Given the description of an element on the screen output the (x, y) to click on. 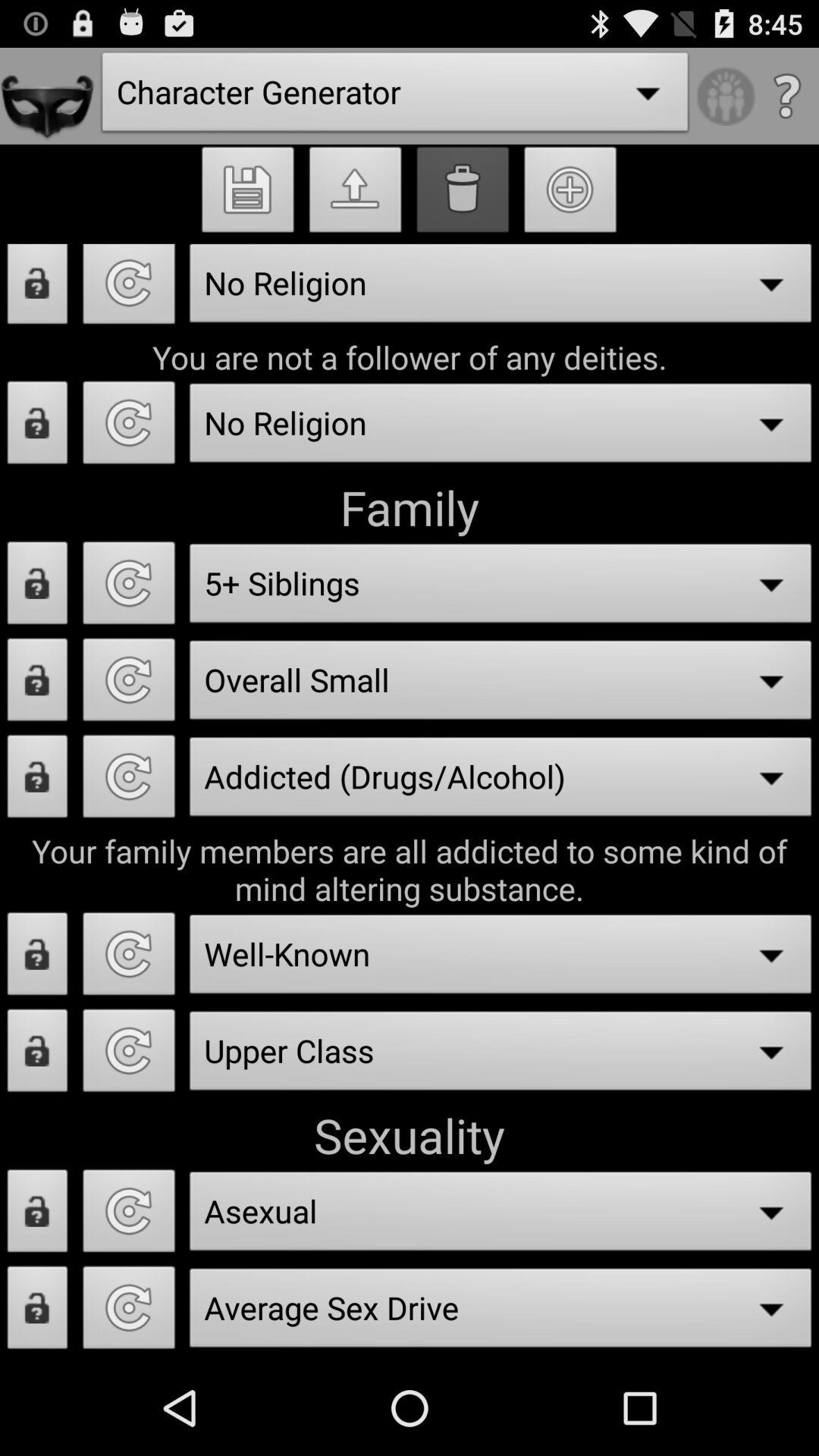
select option (129, 683)
